Given the description of an element on the screen output the (x, y) to click on. 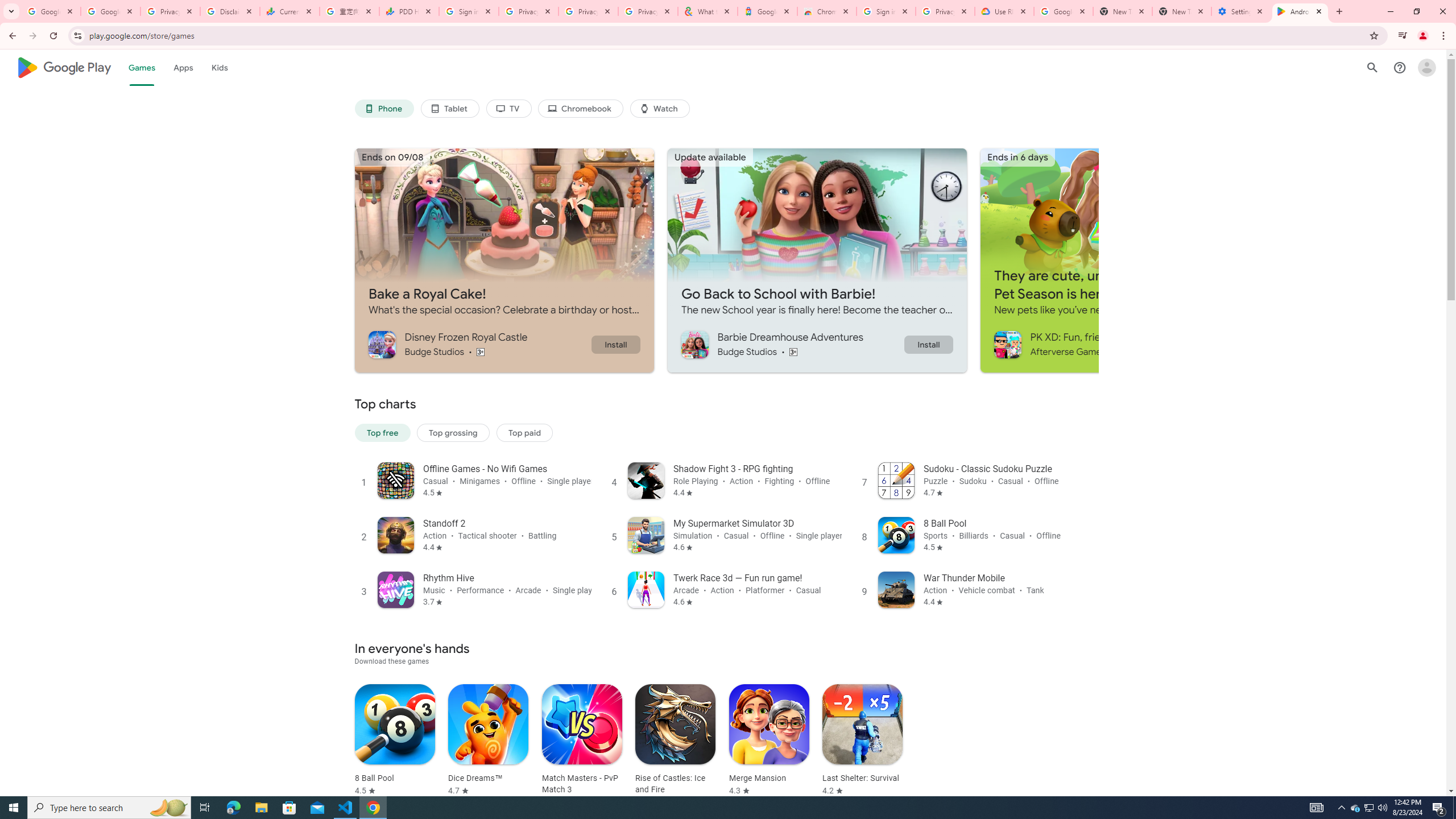
Account (59, 722)
Search for online templates (408, 315)
Line down (1448, 775)
Blank document (245, 175)
Back (59, 54)
Options (59, 753)
